Given the description of an element on the screen output the (x, y) to click on. 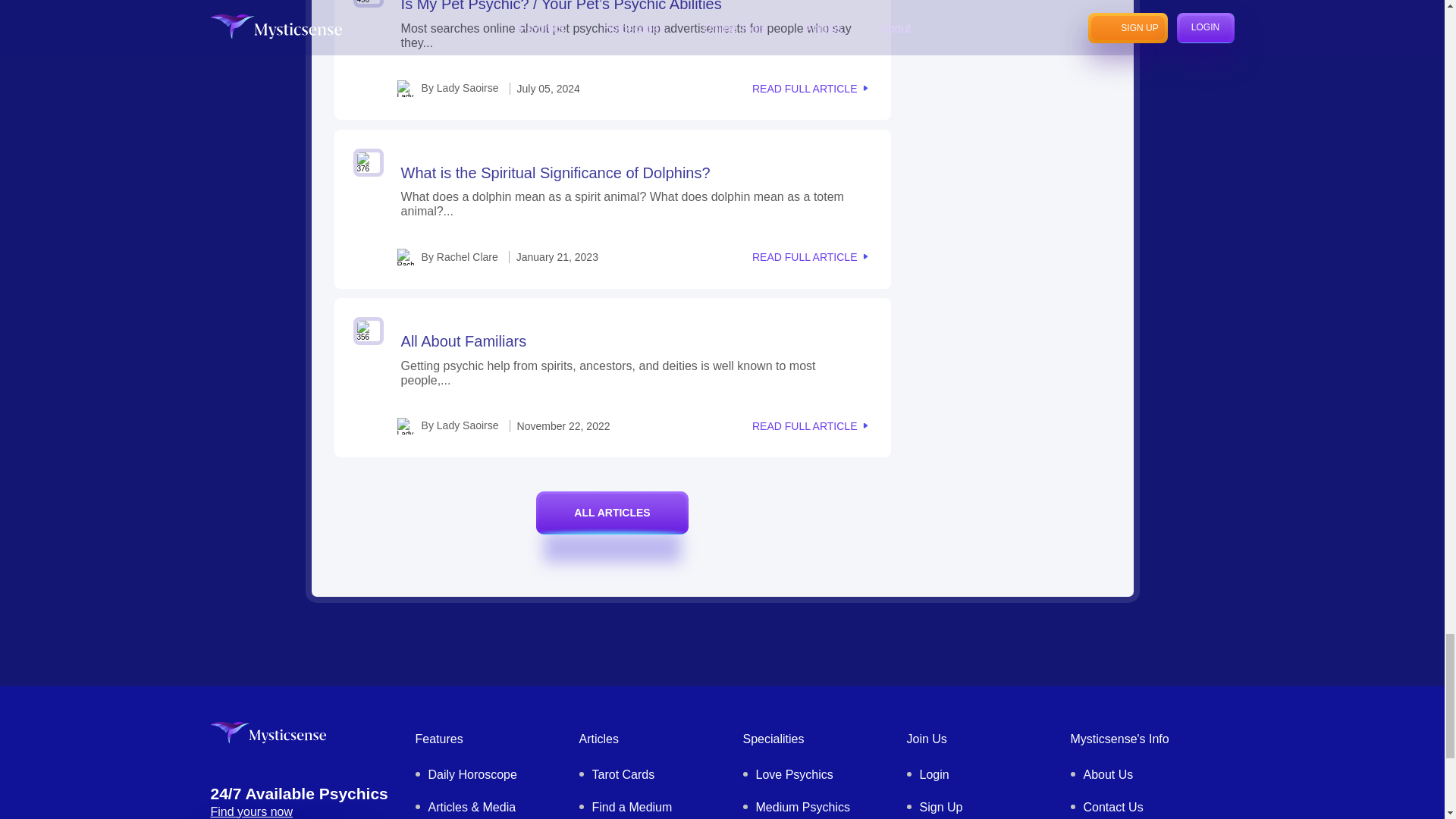
All About Familiars (464, 340)
What is the Spiritual Significance of Dolphins? (555, 172)
READ FULL ARTICLE (809, 88)
READ FULL ARTICLE (809, 256)
